Given the description of an element on the screen output the (x, y) to click on. 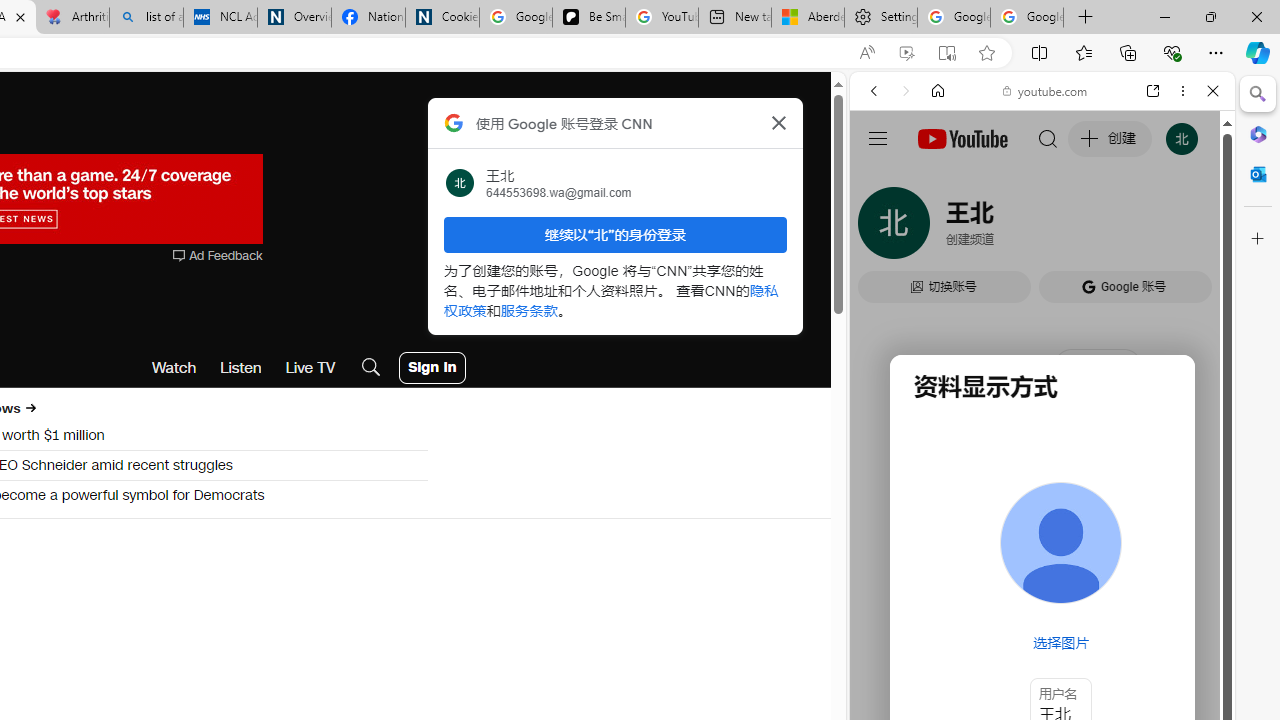
Class: Bz112c Bz112c-r9oPif (778, 122)
Class: right-arrow (30, 408)
